Given the description of an element on the screen output the (x, y) to click on. 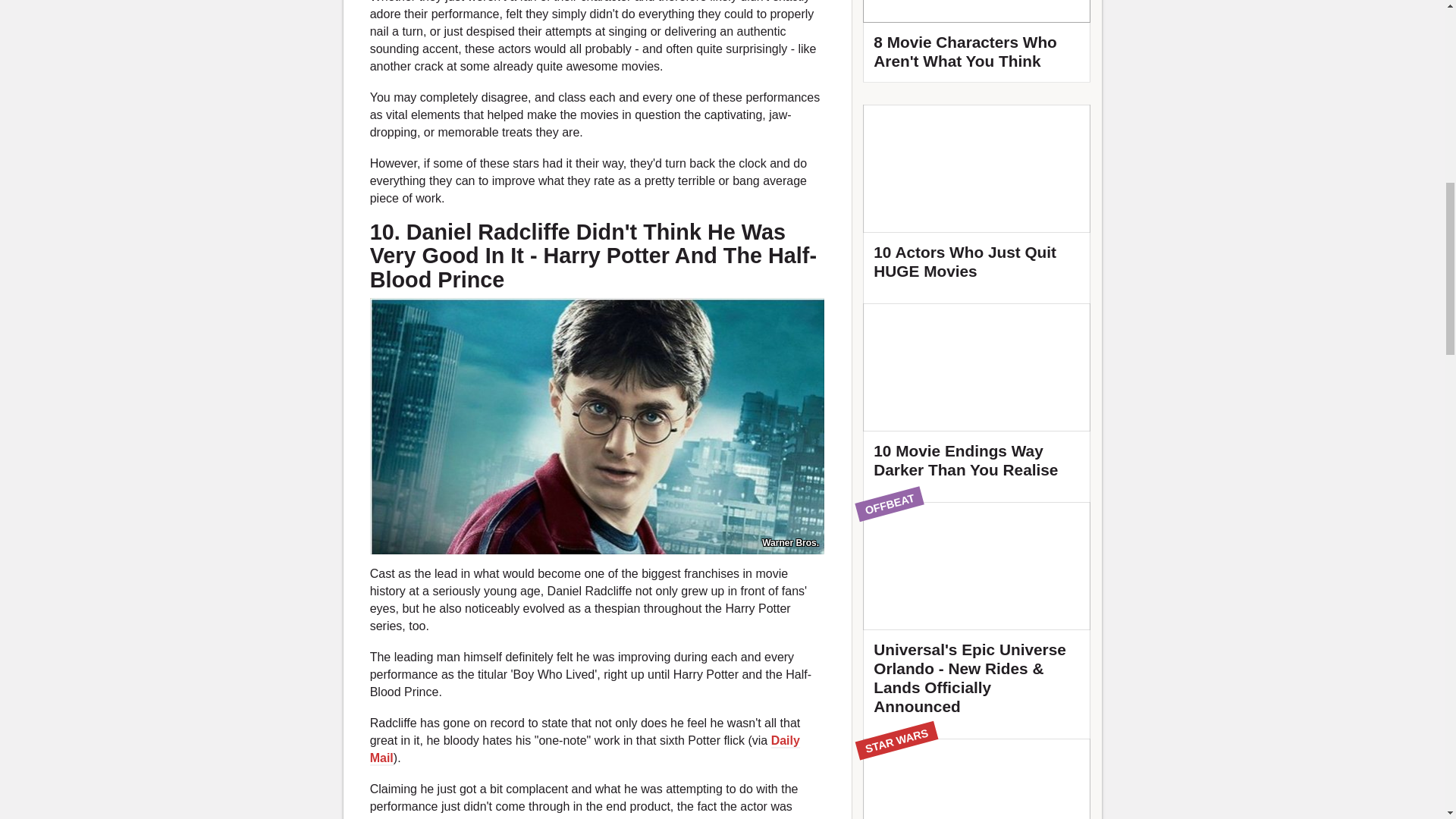
Featured Video (976, 41)
10 Movie Endings Way Darker Than You Realise (976, 397)
10 Actors Who Just Quit HUGE Movies (976, 198)
10 Huge Star Wars Moments That Happened In The Background (976, 778)
